Given the description of an element on the screen output the (x, y) to click on. 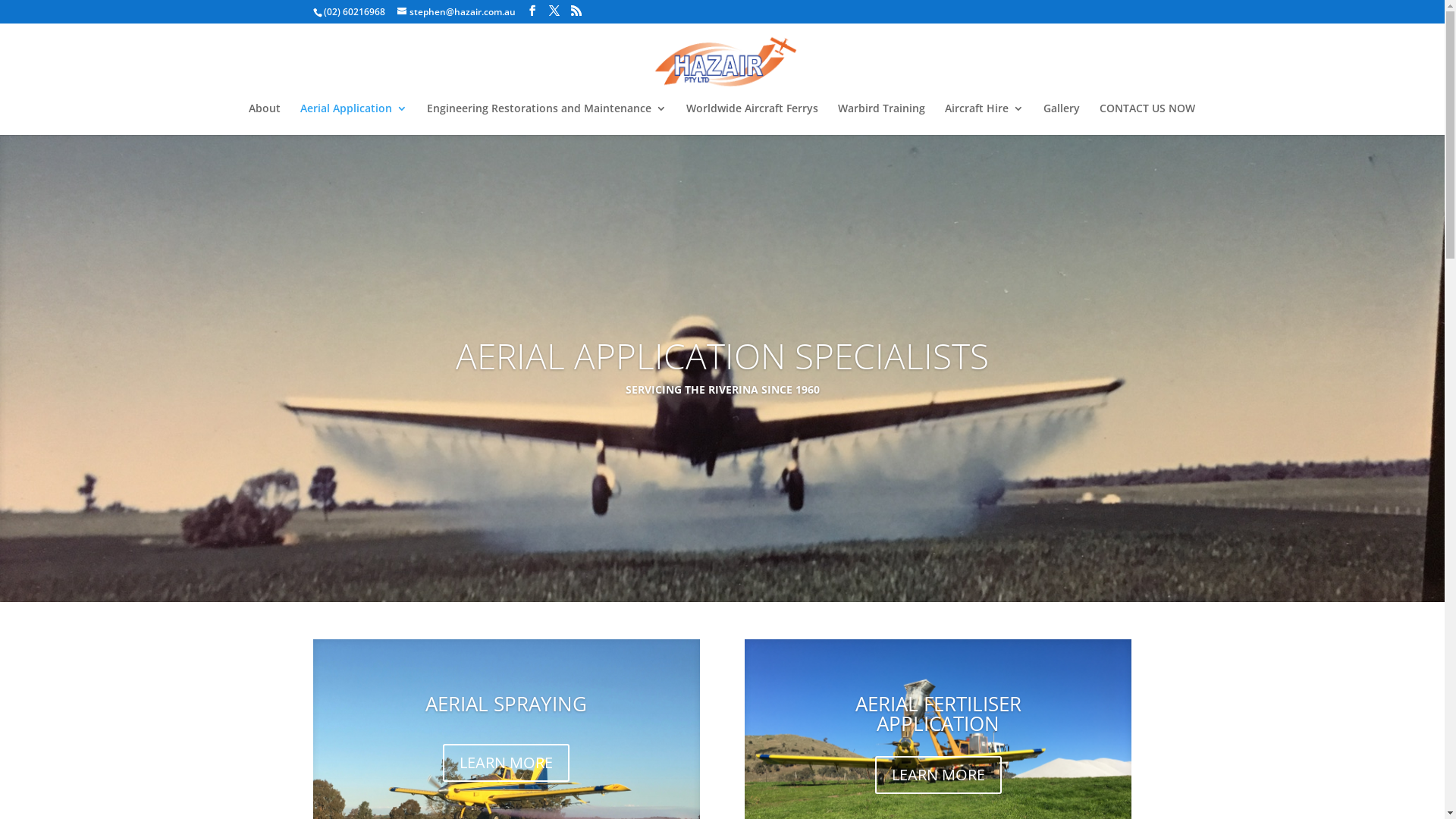
Worldwide Aircraft Ferrys Element type: text (751, 118)
AERIAL FERTILISER APPLICATION Element type: text (938, 713)
Warbird Training Element type: text (880, 118)
Aircraft Hire Element type: text (983, 118)
Aerial Application Element type: text (353, 118)
stephen@hazair.com.au Element type: text (456, 11)
Engineering Restorations and Maintenance Element type: text (545, 118)
About Element type: text (264, 118)
Gallery Element type: text (1061, 118)
CONTACT US NOW Element type: text (1147, 118)
AERIAL SPRAYING Element type: text (505, 703)
LEARN MORE Element type: text (938, 774)
LEARN MORE Element type: text (505, 762)
